Given the description of an element on the screen output the (x, y) to click on. 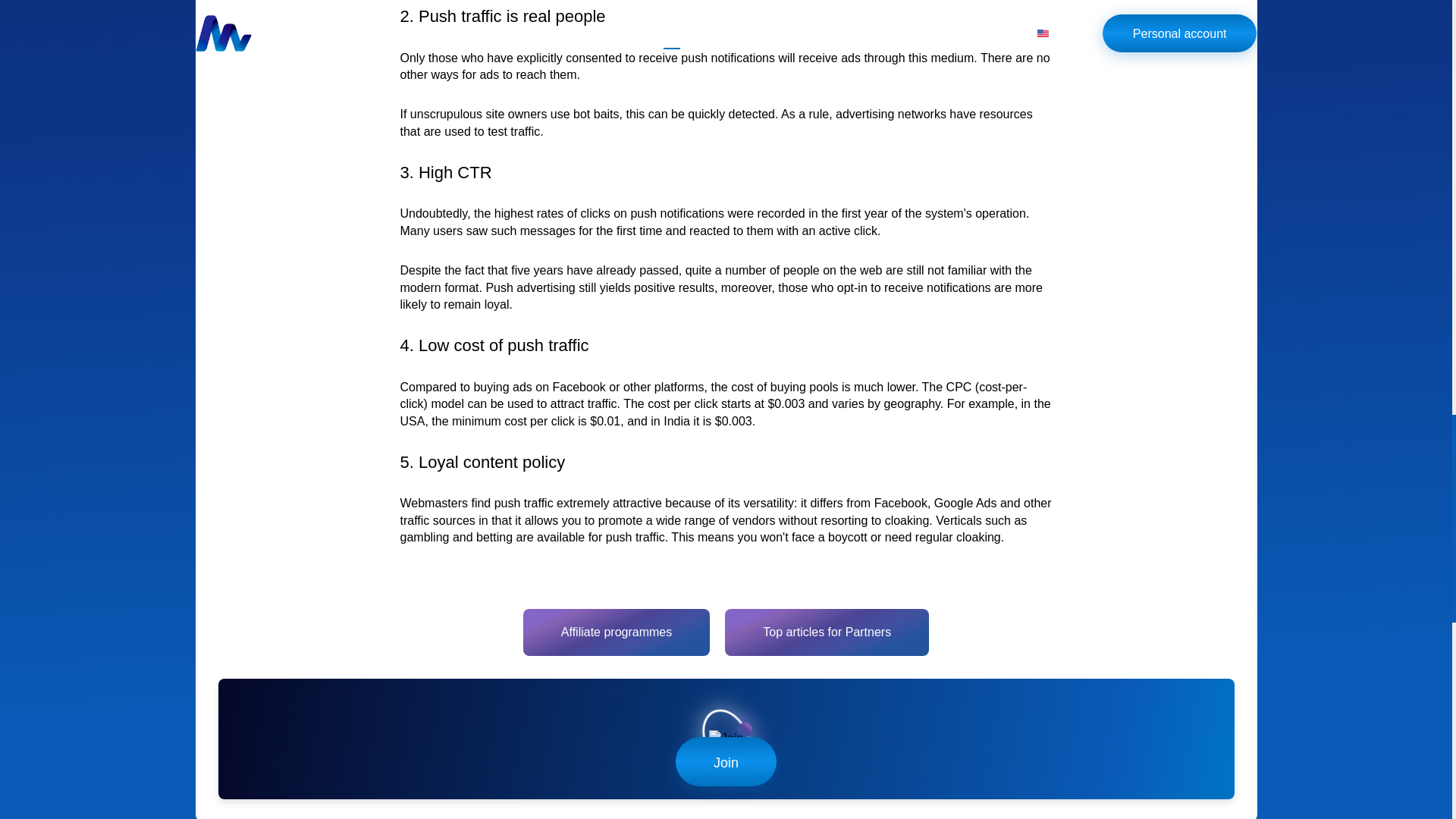
Affiliate programmes (616, 632)
Join (726, 738)
Top articles for Partners (826, 632)
